Given the description of an element on the screen output the (x, y) to click on. 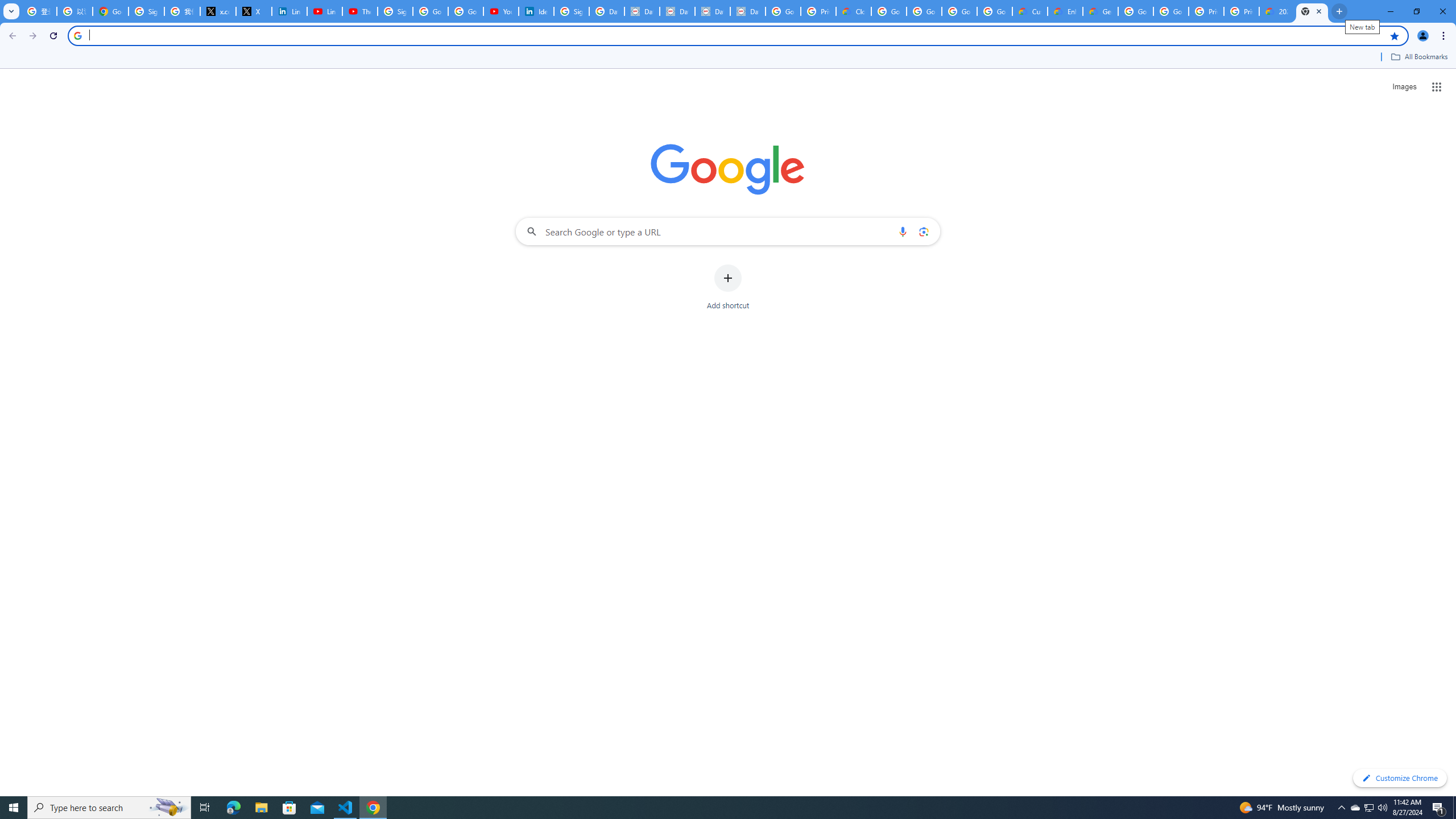
Google Cloud Platform (1170, 11)
Sign in - Google Accounts (394, 11)
